Given the description of an element on the screen output the (x, y) to click on. 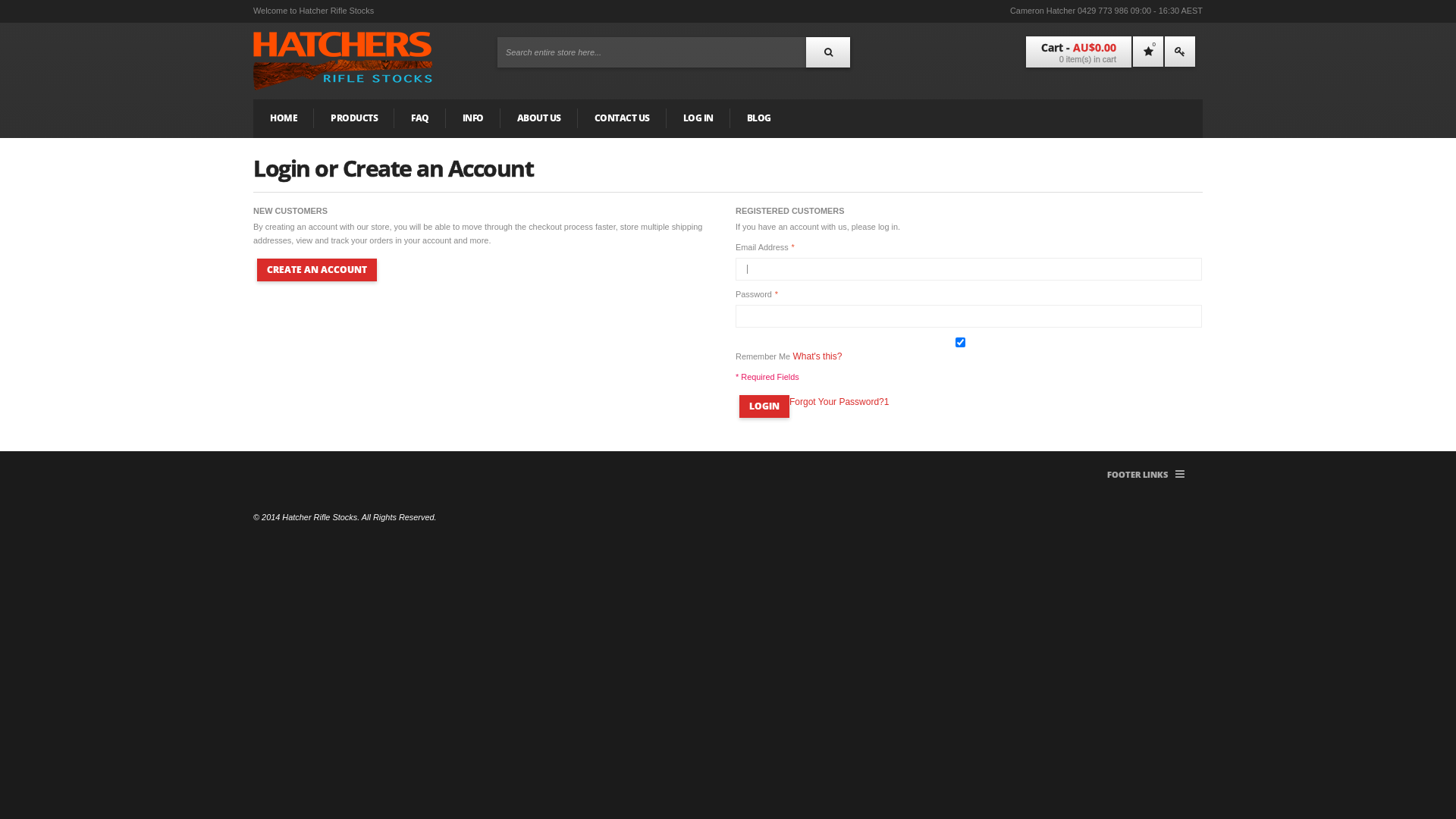
FAQ Element type: text (419, 118)
Remember Me Element type: hover (960, 342)
Search Element type: hover (828, 52)
CONTACT US Element type: text (621, 118)
Hatcher Rifle Stocks Element type: hover (342, 60)
ABOUT US Element type: text (538, 118)
INFO Element type: text (472, 118)
Cart - AU$0.00
0 item(s) in cart Element type: text (1078, 51)
LOGIN Element type: text (764, 406)
What's this? Element type: text (816, 356)
PRODUCTS Element type: text (353, 118)
CREATE AN ACCOUNT Element type: text (316, 269)
Password Element type: hover (968, 315)
Log In Element type: text (1179, 51)
BLOG Element type: text (758, 118)
HOME Element type: text (283, 118)
My Wishlist
0 Element type: text (1147, 51)
Email Address Element type: hover (968, 268)
LOG IN Element type: text (697, 118)
Forgot Your Password?1 Element type: text (838, 401)
